Given the description of an element on the screen output the (x, y) to click on. 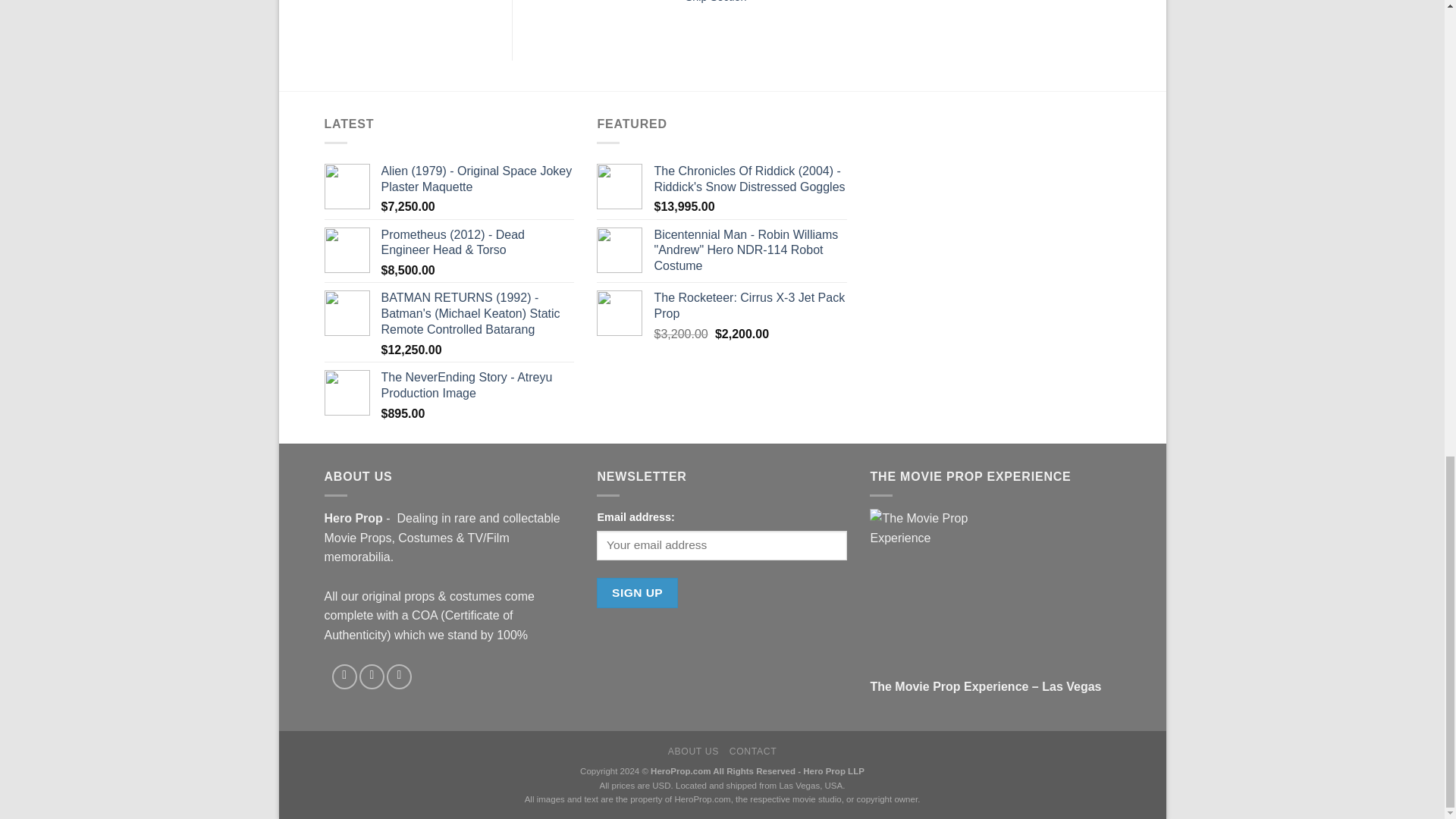
Sign up (636, 592)
Follow on Instagram (371, 676)
Follow on Twitter (399, 676)
Follow on Facebook (343, 676)
